Given the description of an element on the screen output the (x, y) to click on. 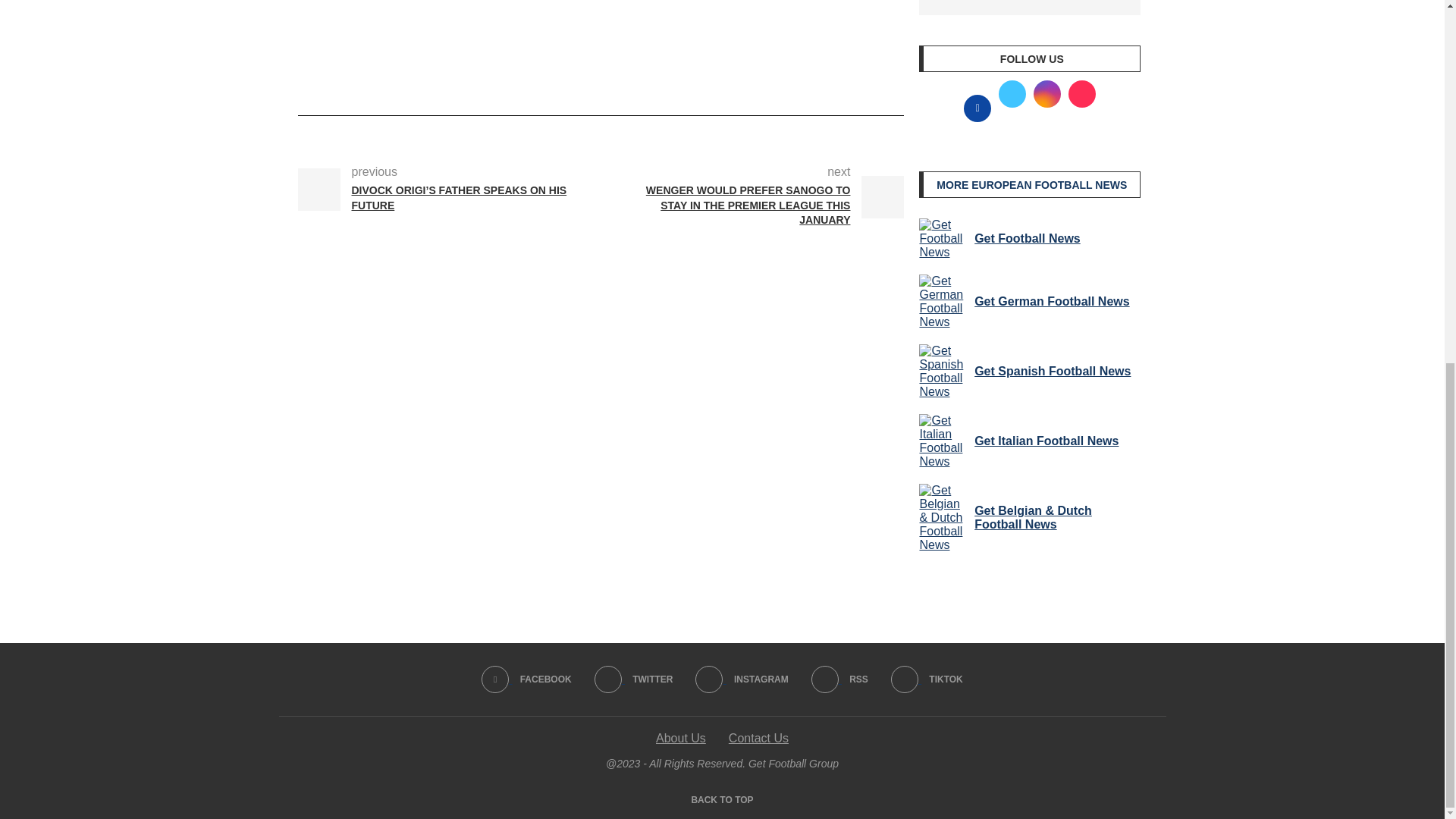
Get Italian Football News (943, 441)
Get Spanish Football News (943, 370)
Get German Football News (943, 301)
Get Football News (943, 238)
